Given the description of an element on the screen output the (x, y) to click on. 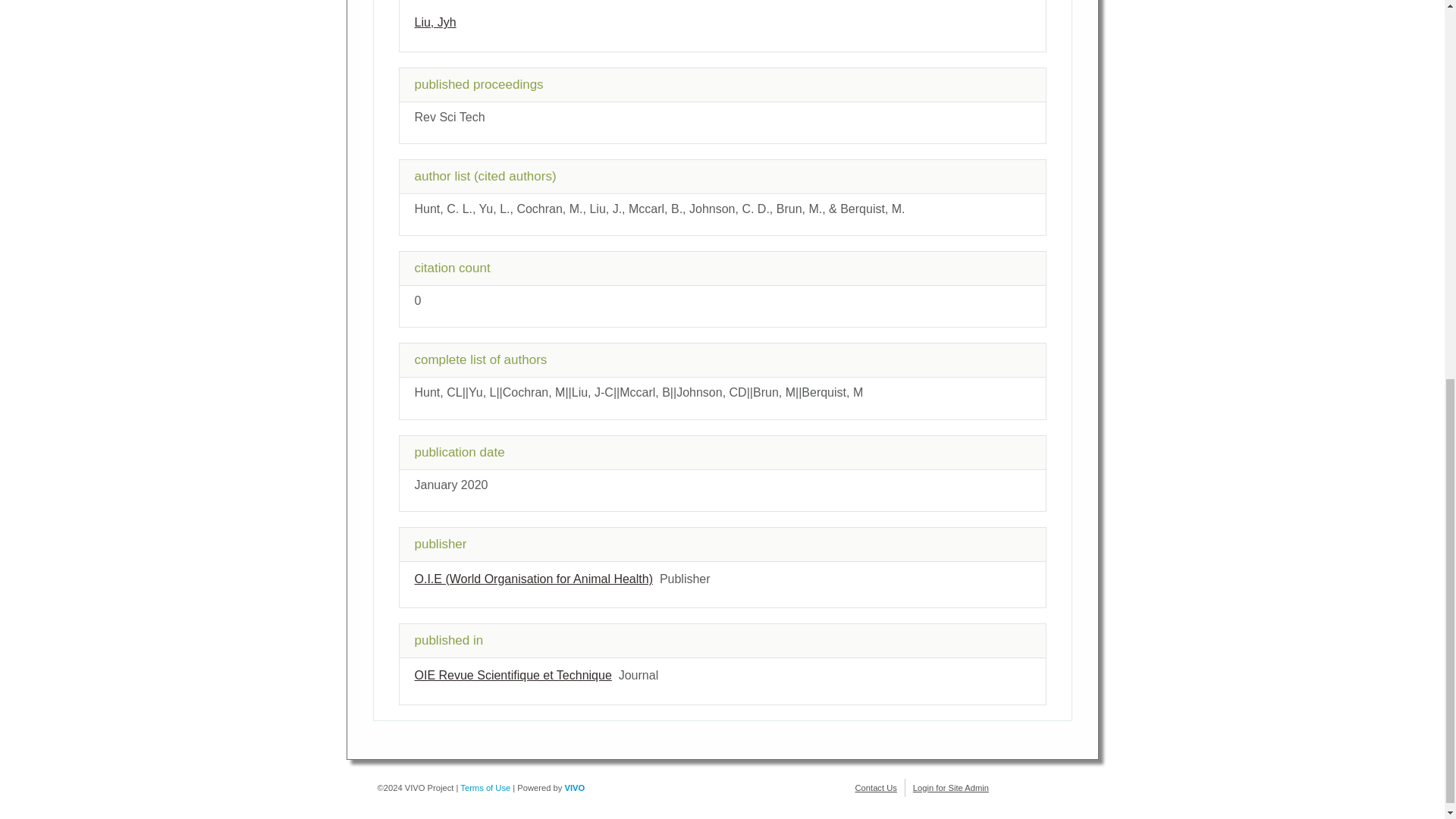
Login for Site Admin (950, 787)
VIVO (574, 787)
Terms of Use (485, 787)
Contact Us (876, 787)
name (532, 578)
author name (434, 21)
Liu, Jyh (434, 21)
OIE Revue Scientifique et Technique (512, 675)
